Given the description of an element on the screen output the (x, y) to click on. 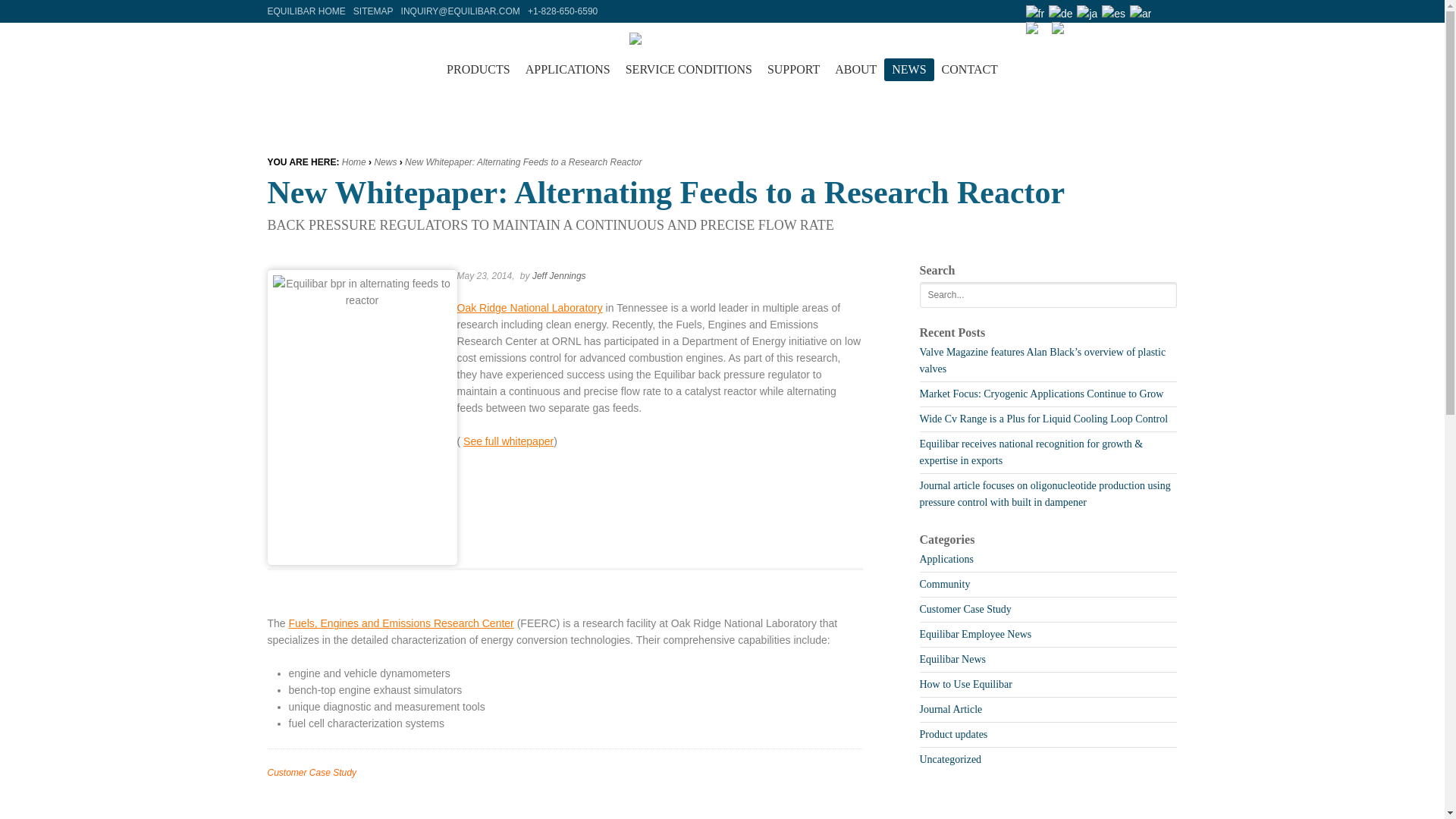
Deutsch (1060, 13)
PRODUCTS (478, 69)
Portuguese (1035, 30)
italian (1062, 30)
Search (1164, 294)
Posts by Jeff Jennings (559, 276)
korean (1140, 13)
APPLICATIONS (567, 69)
ABOUT (855, 69)
SERVICE CONDITIONS (688, 69)
